Given the description of an element on the screen output the (x, y) to click on. 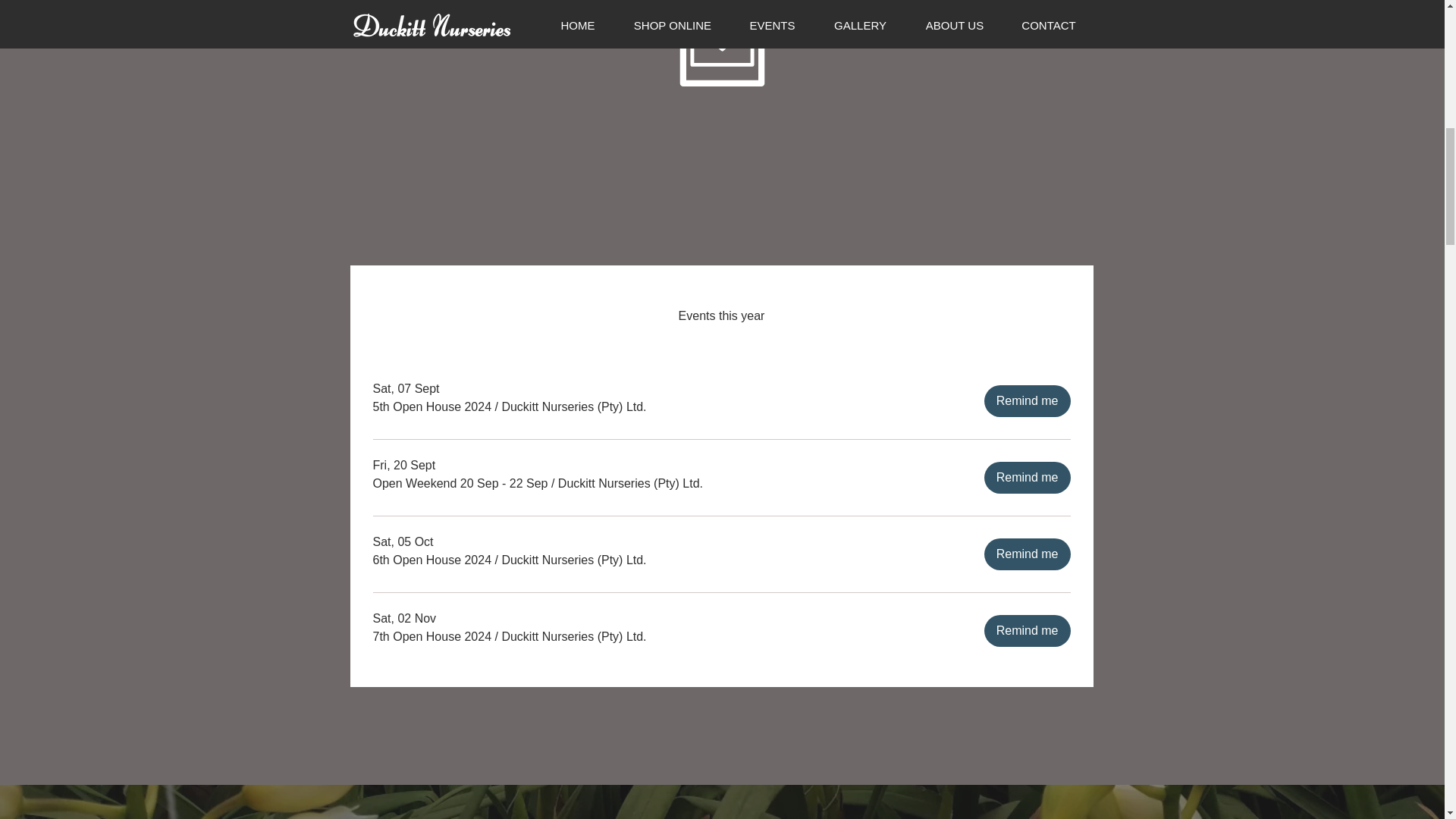
Remind me (1027, 400)
Remind me (1027, 631)
Remind me (1027, 554)
Remind me (1027, 477)
